Given the description of an element on the screen output the (x, y) to click on. 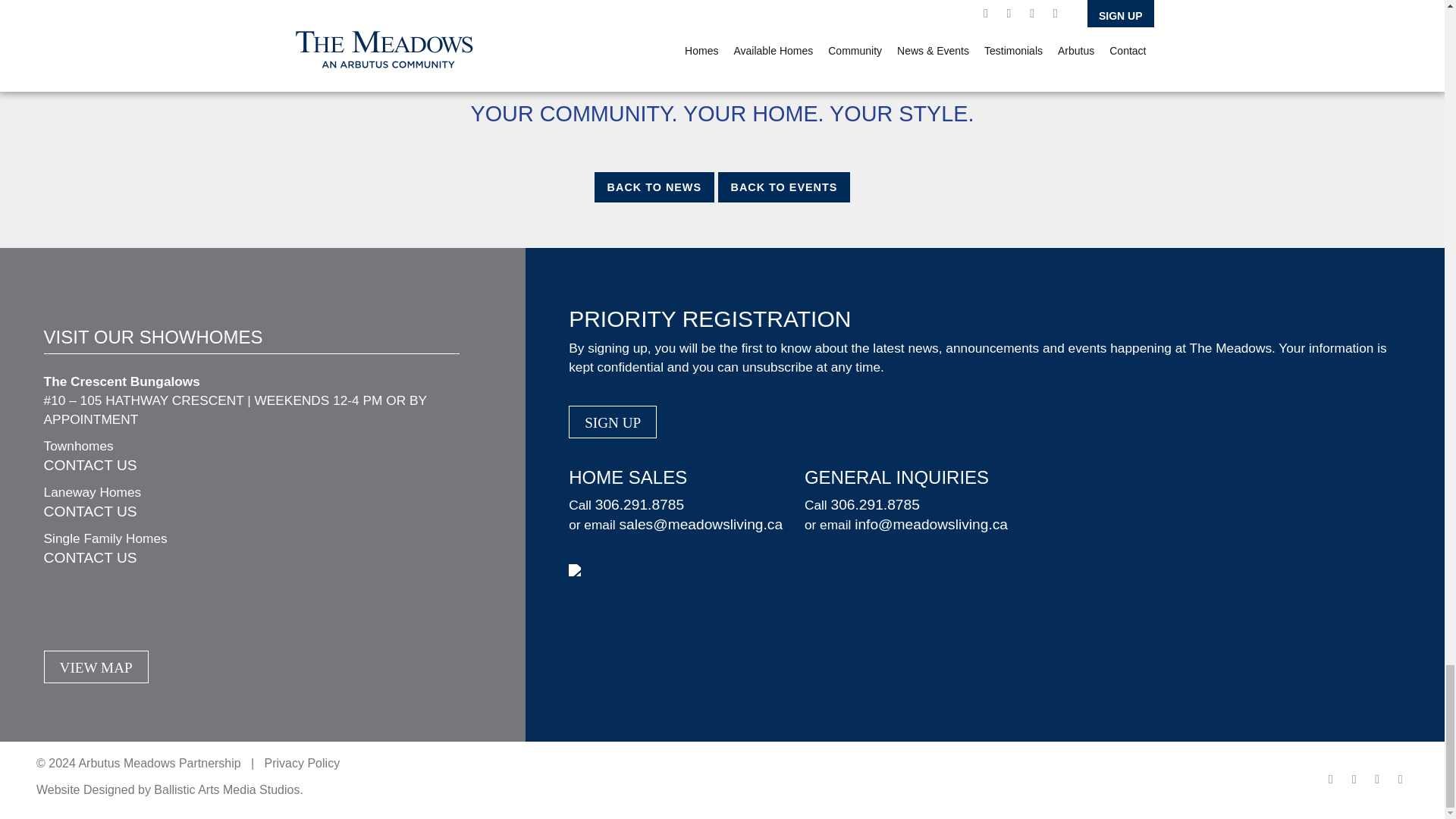
 email or call us (489, 69)
VIEW MAP (95, 666)
Ballistic Arts Media Studios (226, 789)
CONTACT US (89, 557)
306.291.8785 (639, 504)
CONTACT US (89, 465)
BACK TO NEWS (654, 186)
CONTACT US (89, 511)
306.291.8785 (873, 504)
BACK TO EVENTS (783, 186)
SIGN UP (612, 421)
Privacy Policy (302, 762)
